Given the description of an element on the screen output the (x, y) to click on. 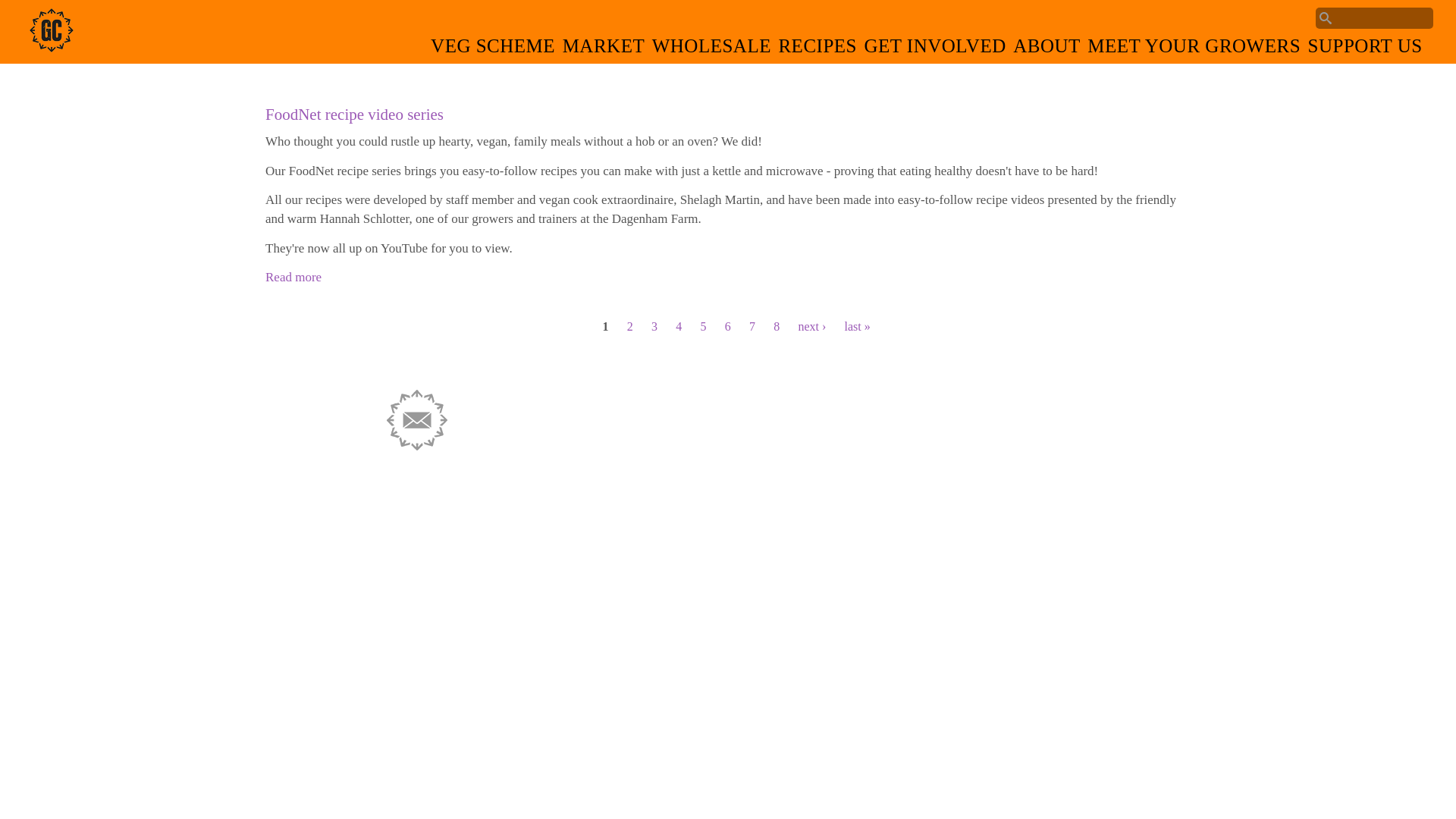
MARKET (605, 49)
VEG SCHEME (494, 49)
WHOLESALE (714, 49)
Home (51, 48)
RECIPES (819, 49)
